Given the description of an element on the screen output the (x, y) to click on. 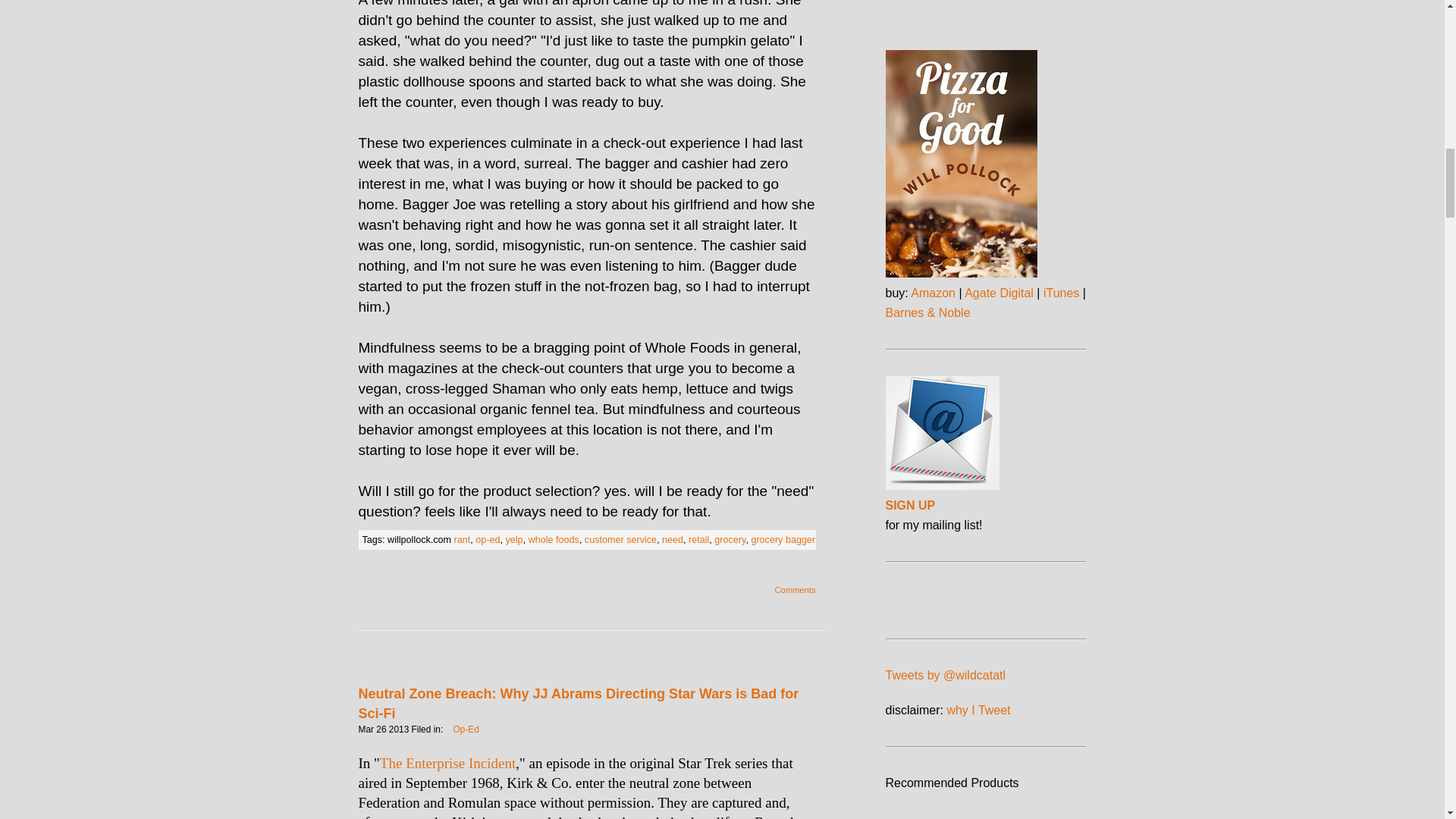
grocery bagger (783, 539)
rant (462, 539)
need (672, 539)
grocery (729, 539)
retail (698, 539)
customer service (620, 539)
yelp (513, 539)
op-ed (487, 539)
whole foods (553, 539)
